Given the description of an element on the screen output the (x, y) to click on. 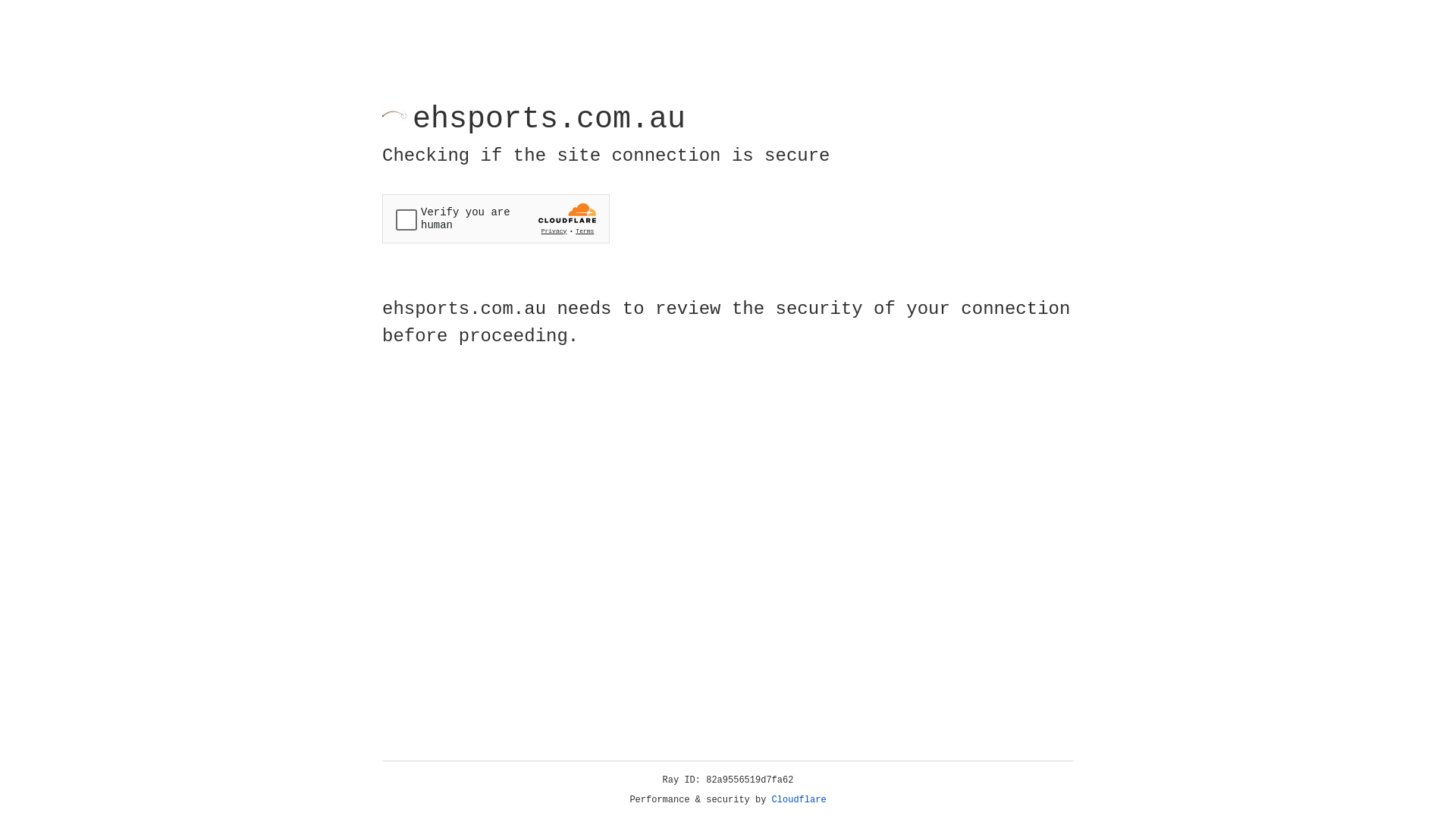
Cloudflare Element type: text (798, 799)
Widget containing a Cloudflare security challenge Element type: hover (495, 218)
